Given the description of an element on the screen output the (x, y) to click on. 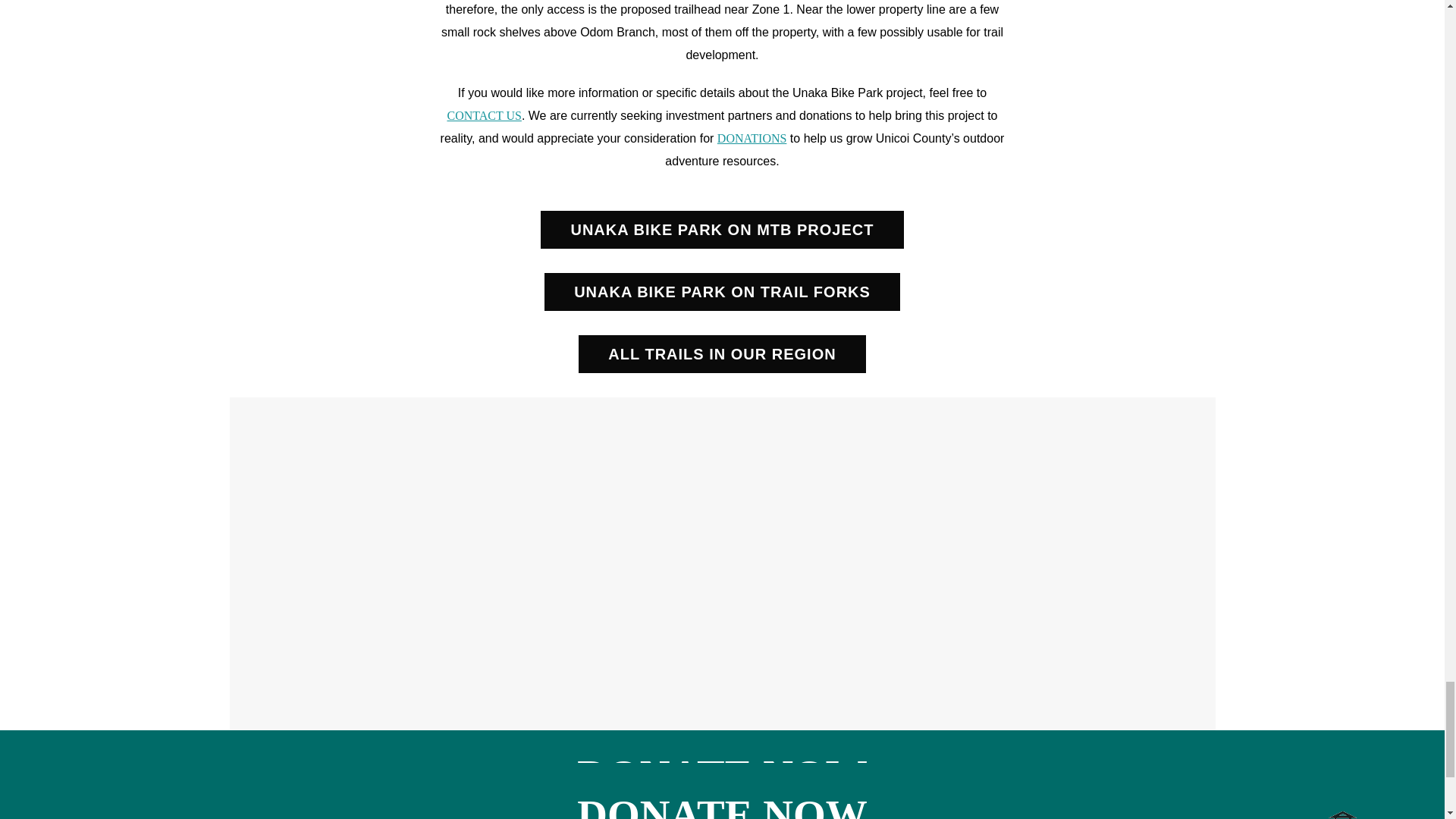
ALL TRAILS IN OUR REGION (721, 353)
UNAKA BIKE PARK ON TRAIL FORKS (721, 291)
DONATIONS (752, 137)
CONTACT US (483, 115)
UNAKA BIKE PARK ON MTB PROJECT (721, 229)
